Given the description of an element on the screen output the (x, y) to click on. 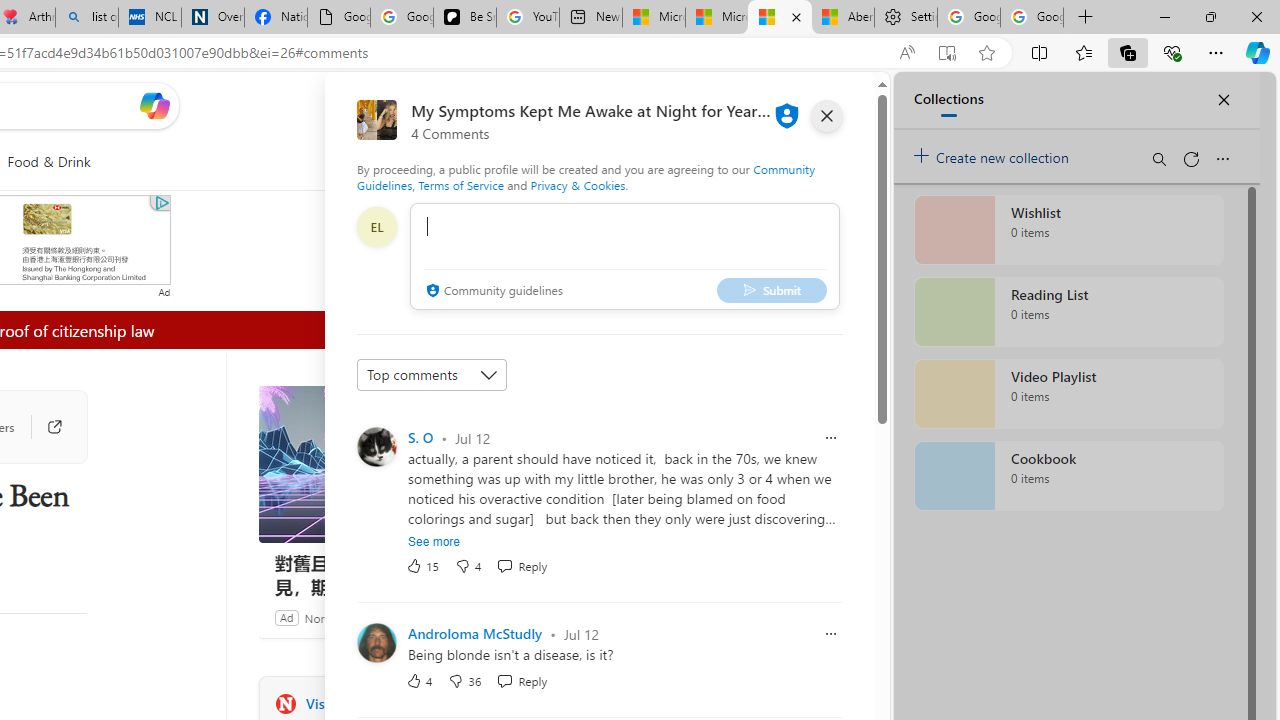
close (827, 115)
Google Analytics Opt-out Browser Add-on Download Page (338, 17)
Class: qc-adchoices-icon (161, 202)
Sort comments by (431, 374)
Terms of Service (461, 184)
